Given the description of an element on the screen output the (x, y) to click on. 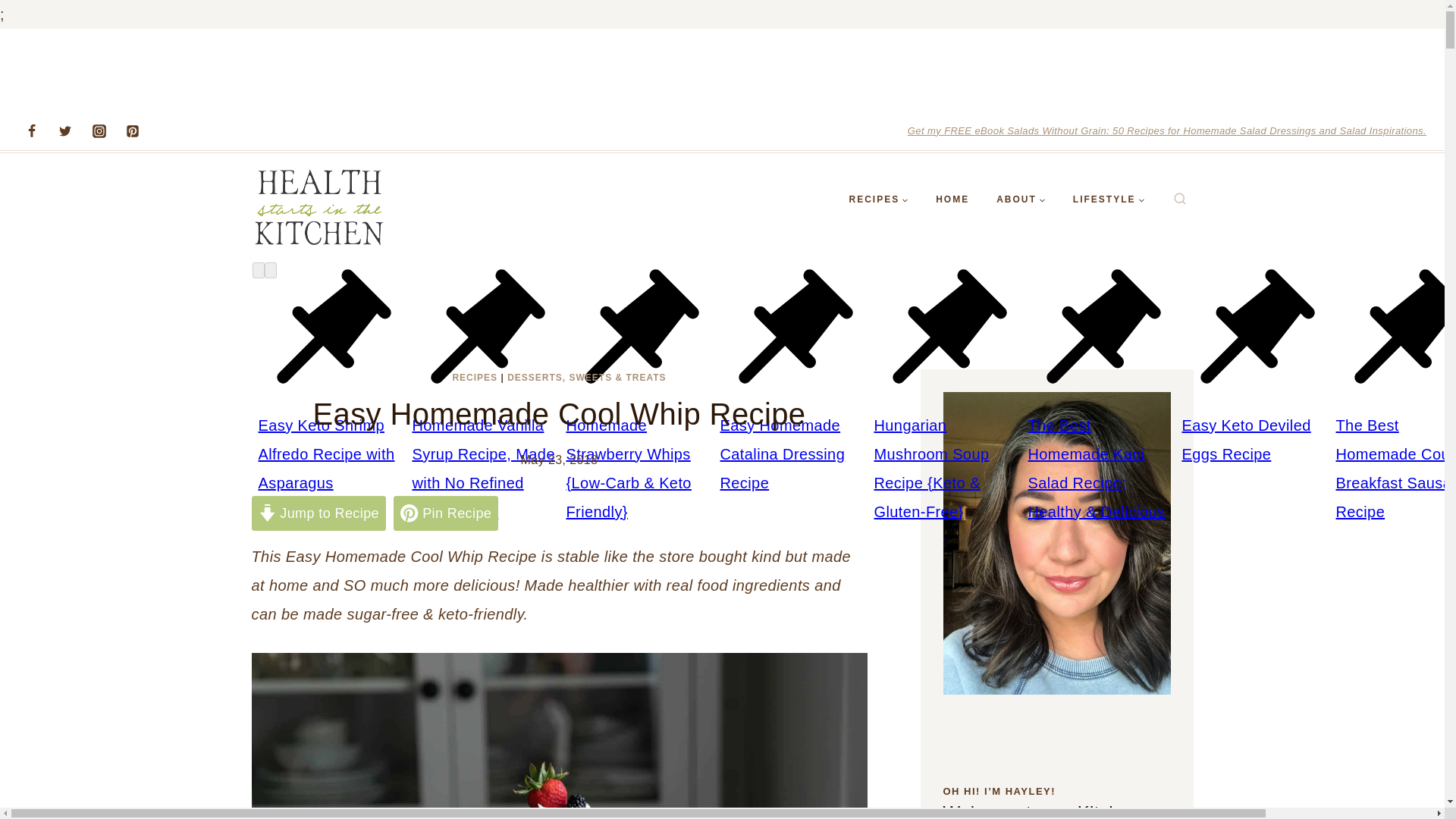
RECIPES (474, 377)
LIFESTYLE (1108, 199)
RECIPES (877, 199)
HOME (951, 199)
Jump to Recipe (318, 513)
Pin Recipe (445, 513)
ABOUT (1020, 199)
